Given the description of an element on the screen output the (x, y) to click on. 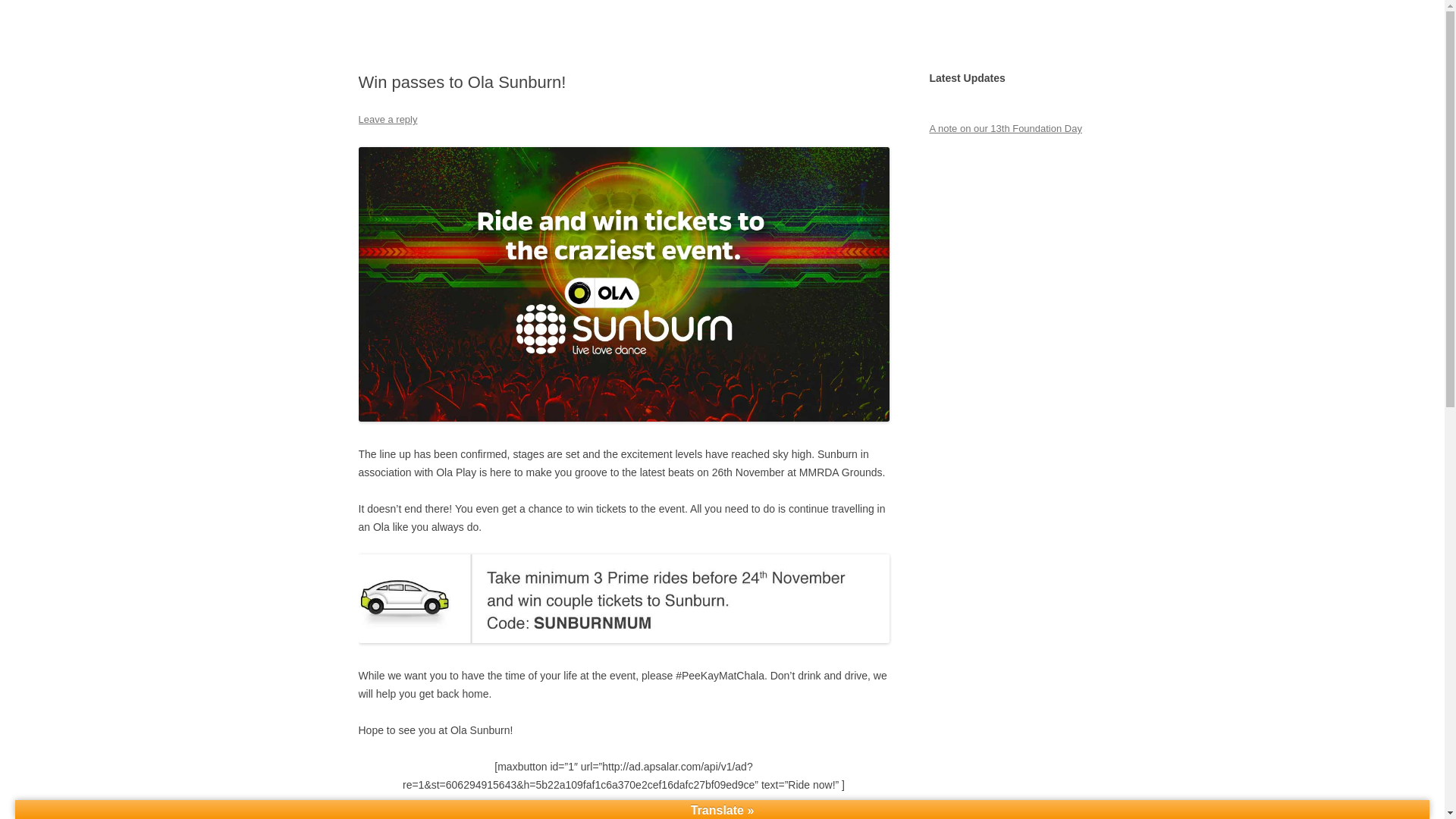
Leave a reply (387, 119)
Olacabs Blogs (426, 36)
A note on our 13th Foundation Day (1004, 128)
